Given the description of an element on the screen output the (x, y) to click on. 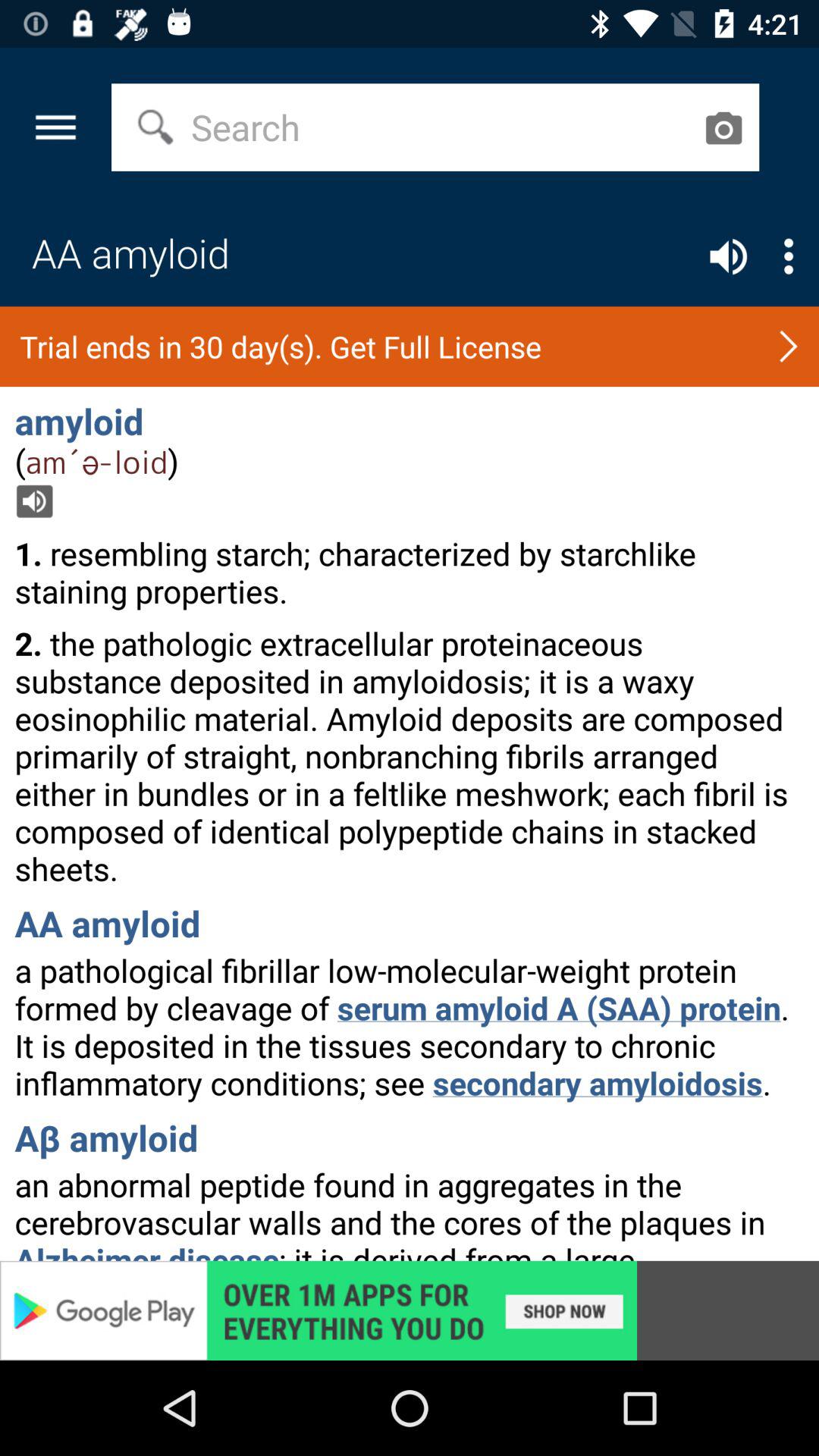
search by taking a picture (723, 127)
